Given the description of an element on the screen output the (x, y) to click on. 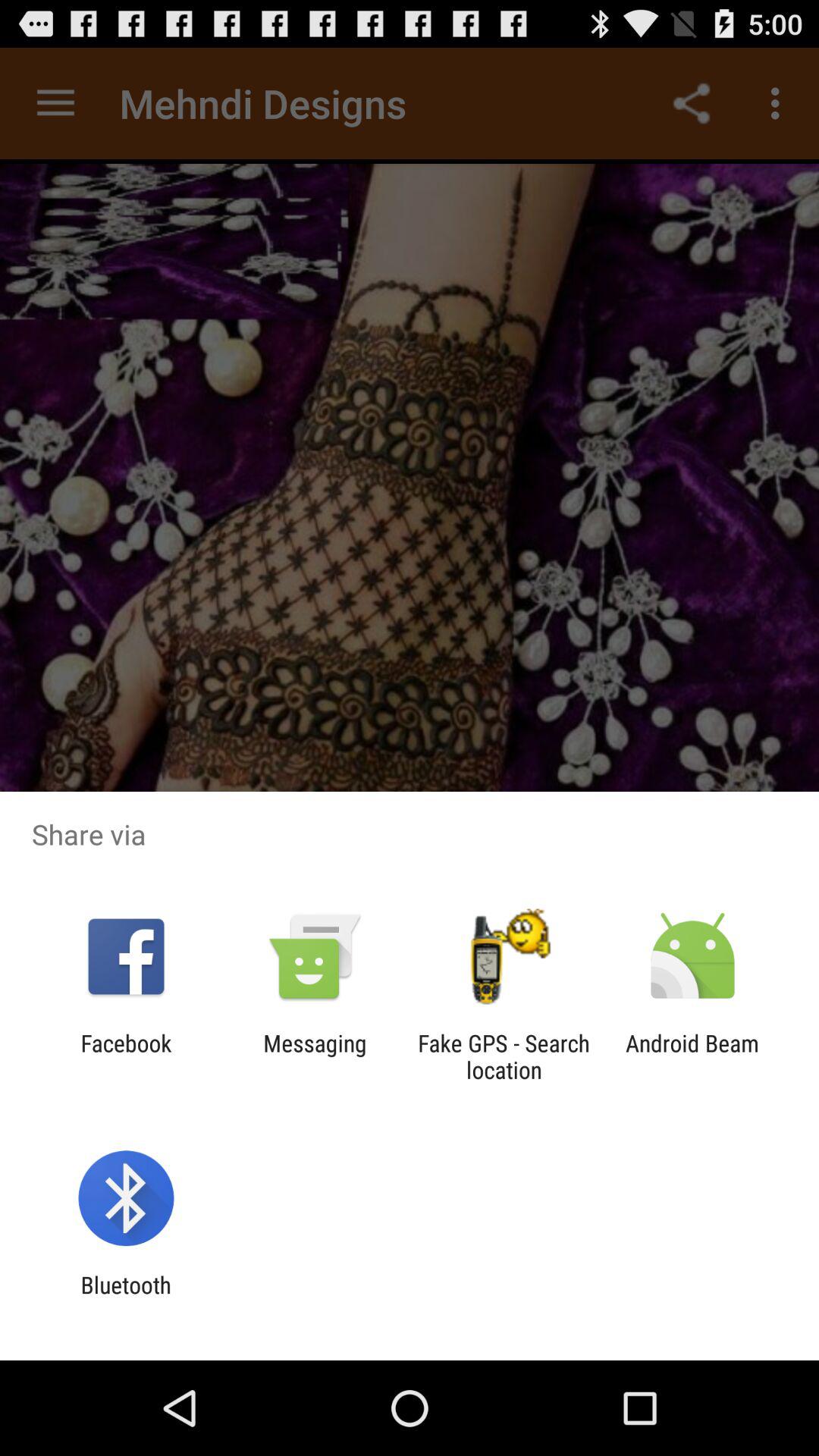
press app next to messaging item (503, 1056)
